Given the description of an element on the screen output the (x, y) to click on. 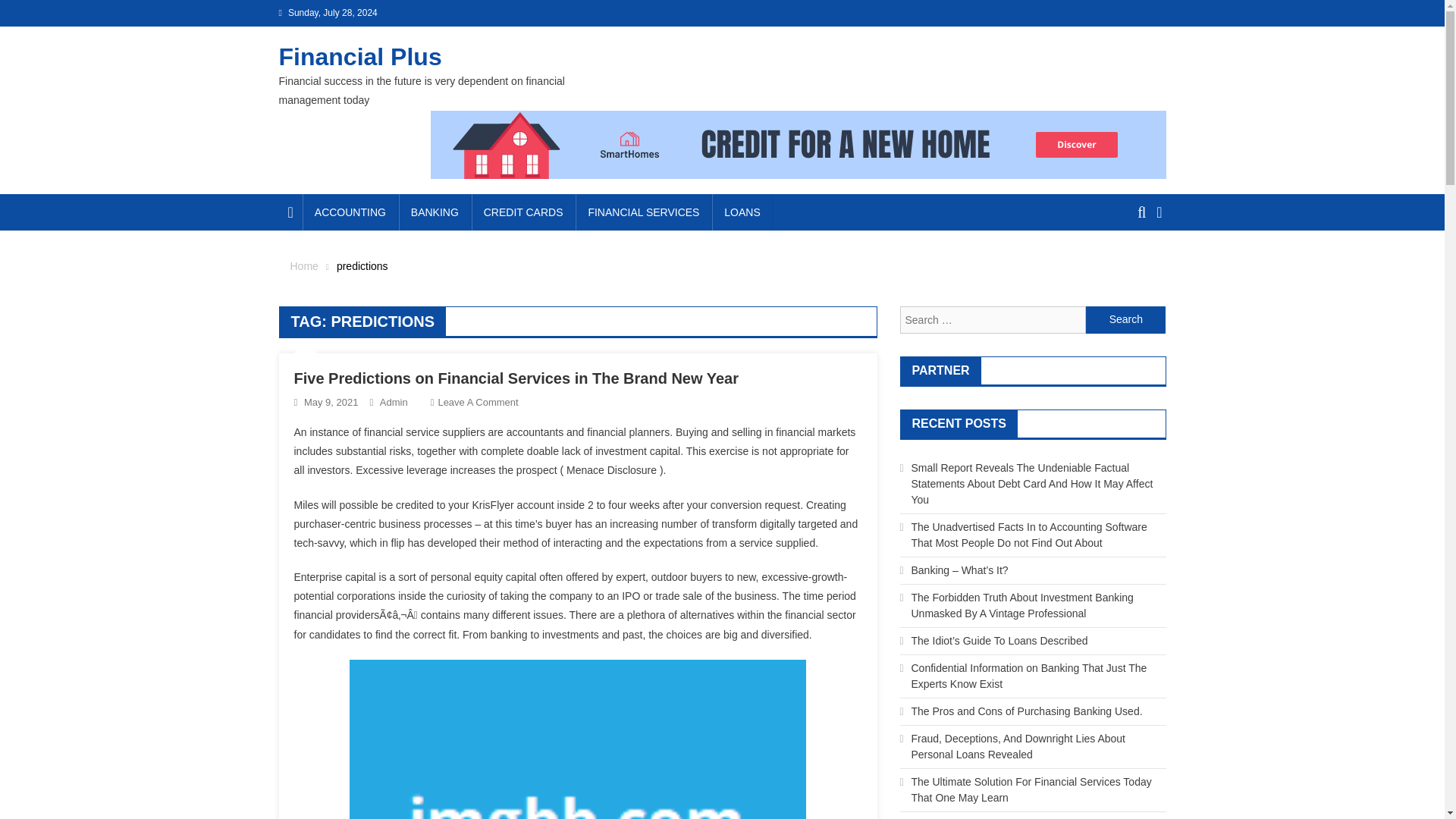
Skip to content (34, 9)
ACCOUNTING (349, 212)
LOANS (741, 212)
May 9, 2021 (331, 401)
The Pros and Cons of Purchasing Banking Used. (1026, 711)
CREDIT CARDS (523, 212)
Search (1126, 319)
Admin (393, 401)
Search (1126, 319)
Search (1126, 319)
Five Predictions on Financial Services in The Brand New Year (516, 378)
